Given the description of an element on the screen output the (x, y) to click on. 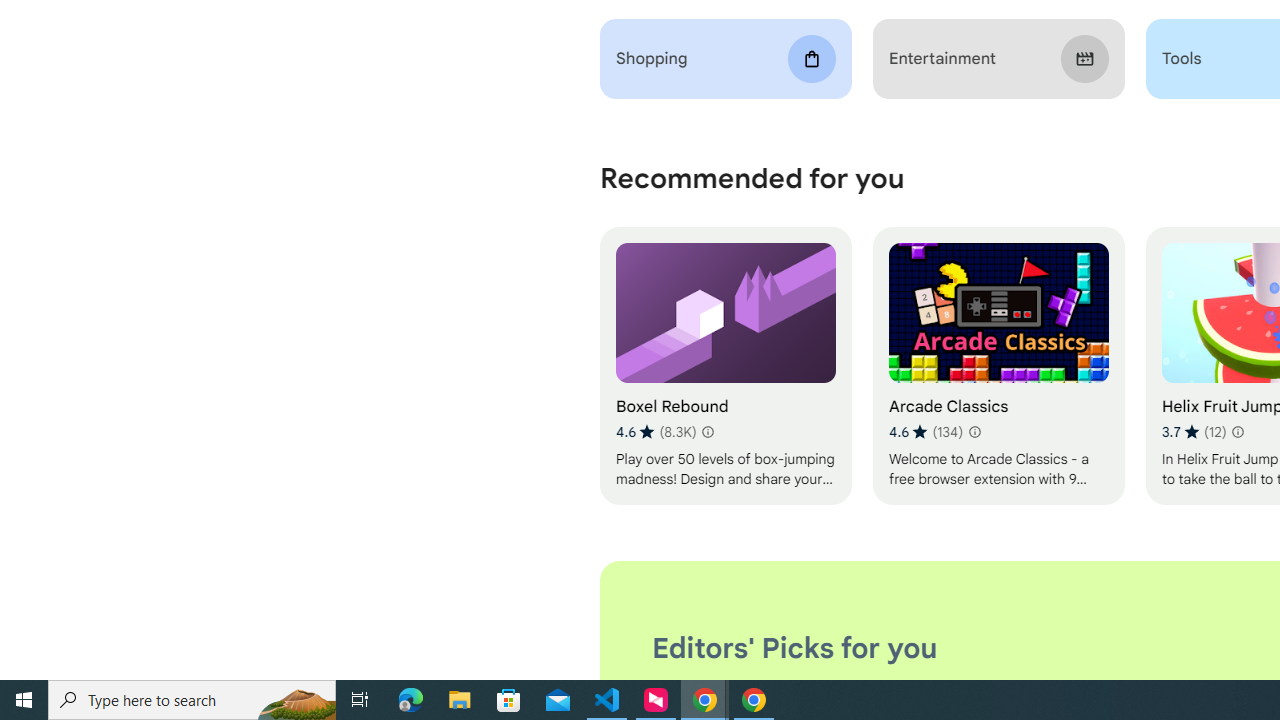
Average rating 4.6 out of 5 stars. 8.3K ratings. (655, 431)
Learn more about results and reviews "Boxel Rebound" (707, 431)
Entertainment (998, 59)
Boxel Rebound (725, 366)
Average rating 4.6 out of 5 stars. 134 ratings. (925, 431)
Arcade Classics (998, 366)
Average rating 3.7 out of 5 stars. 12 ratings. (1193, 431)
Shopping (725, 59)
Learn more about results and reviews "Arcade Classics" (973, 431)
